Given the description of an element on the screen output the (x, y) to click on. 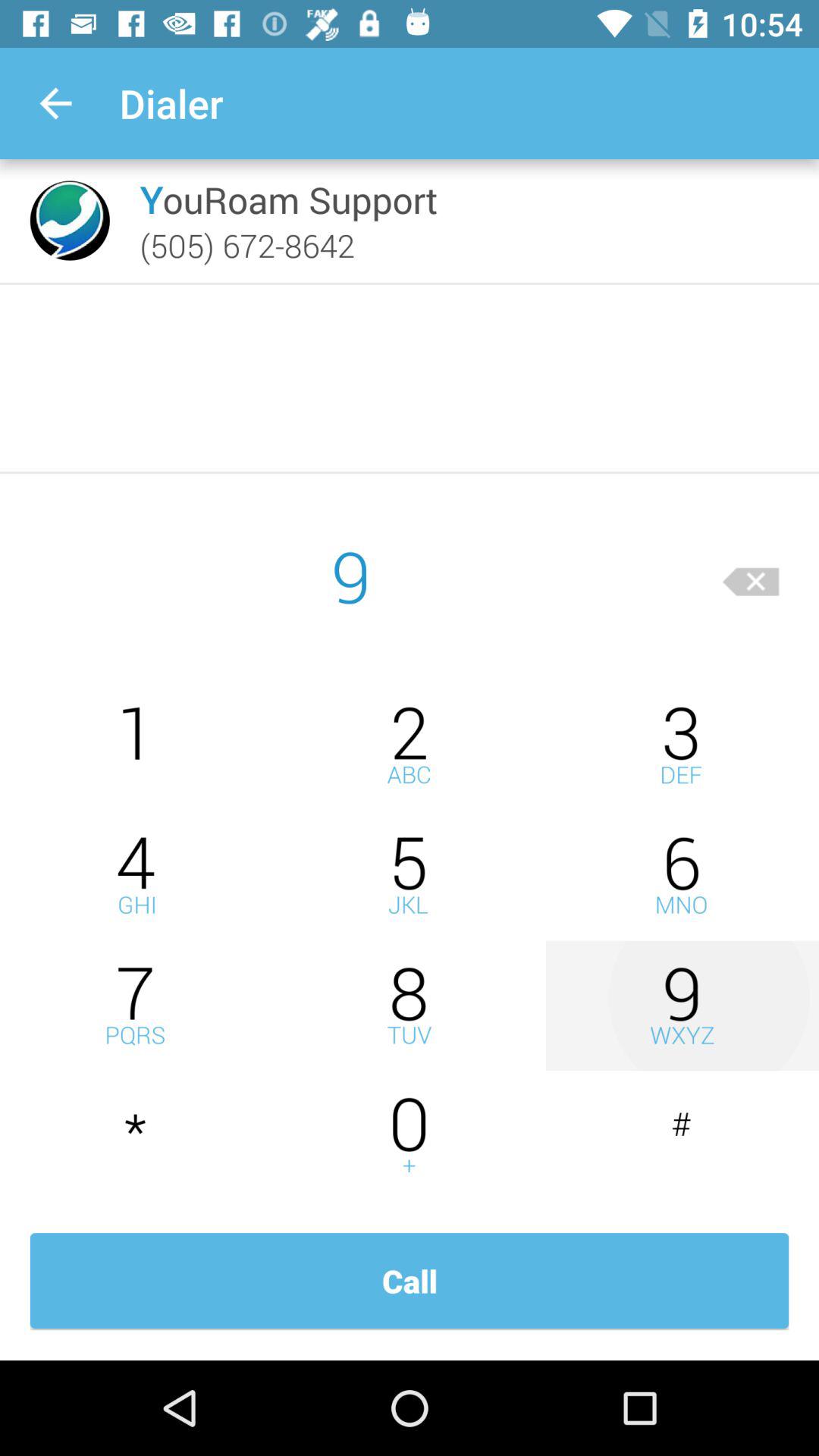
jump until call (409, 1280)
